Given the description of an element on the screen output the (x, y) to click on. 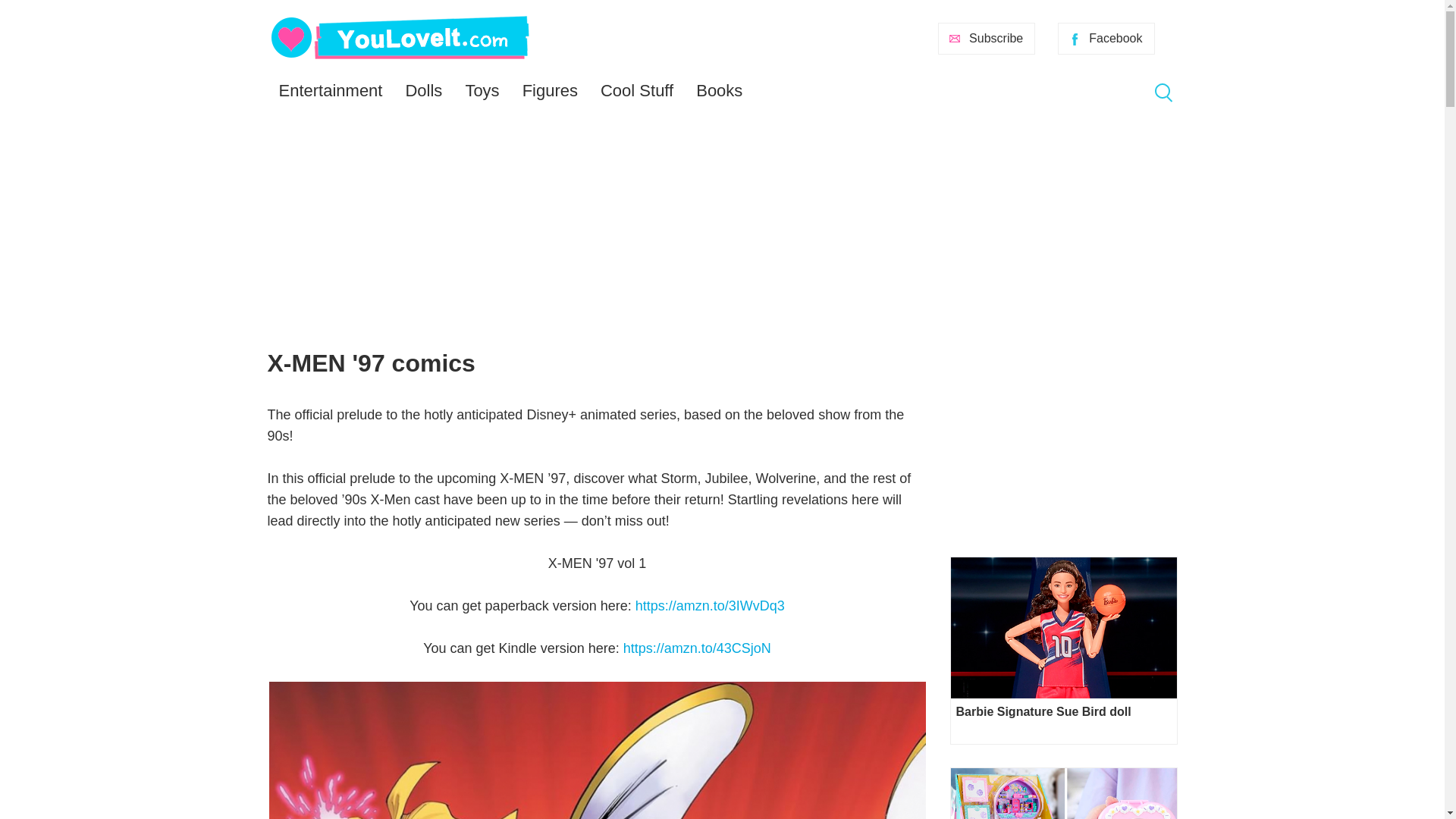
Subscribe (986, 38)
Facebook (1106, 38)
Toys (481, 91)
Figures (550, 91)
Dolls (422, 91)
Subscribe (986, 38)
Cool Stuff (636, 91)
Facebook (1106, 38)
Entertainment (329, 91)
Books (719, 91)
